Given the description of an element on the screen output the (x, y) to click on. 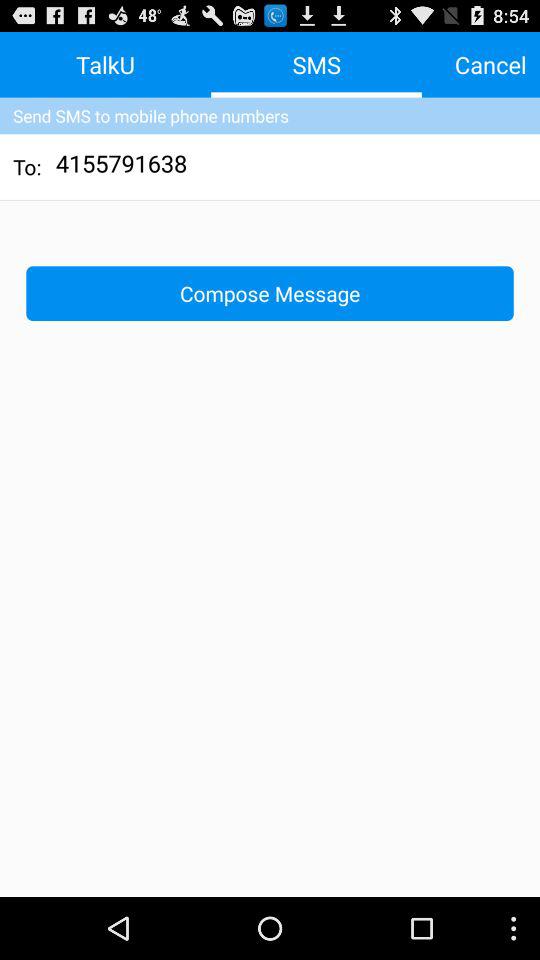
flip until the compose message button (269, 292)
